Given the description of an element on the screen output the (x, y) to click on. 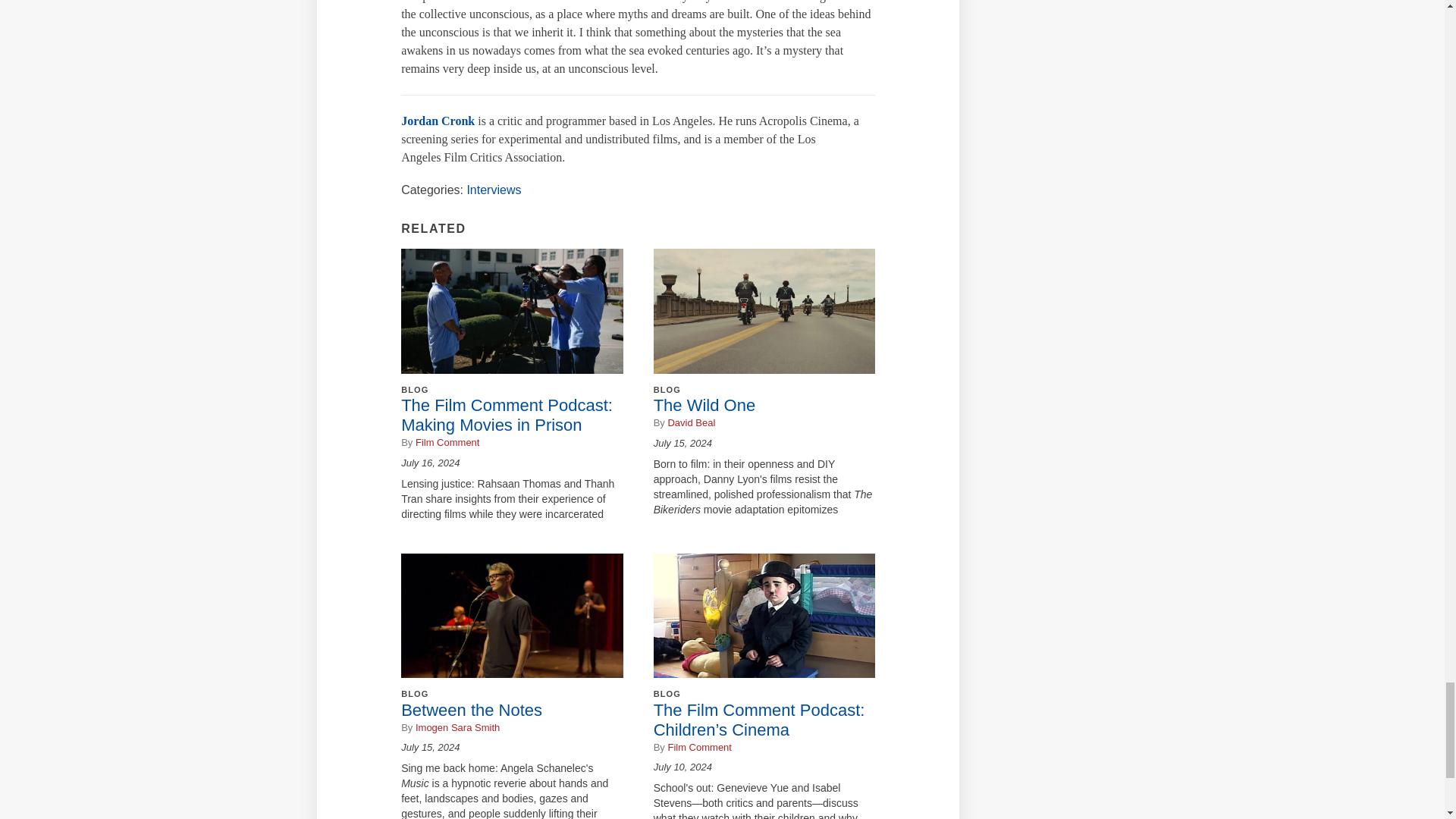
Interviews (493, 189)
Jordan Cronk  (439, 120)
